Given the description of an element on the screen output the (x, y) to click on. 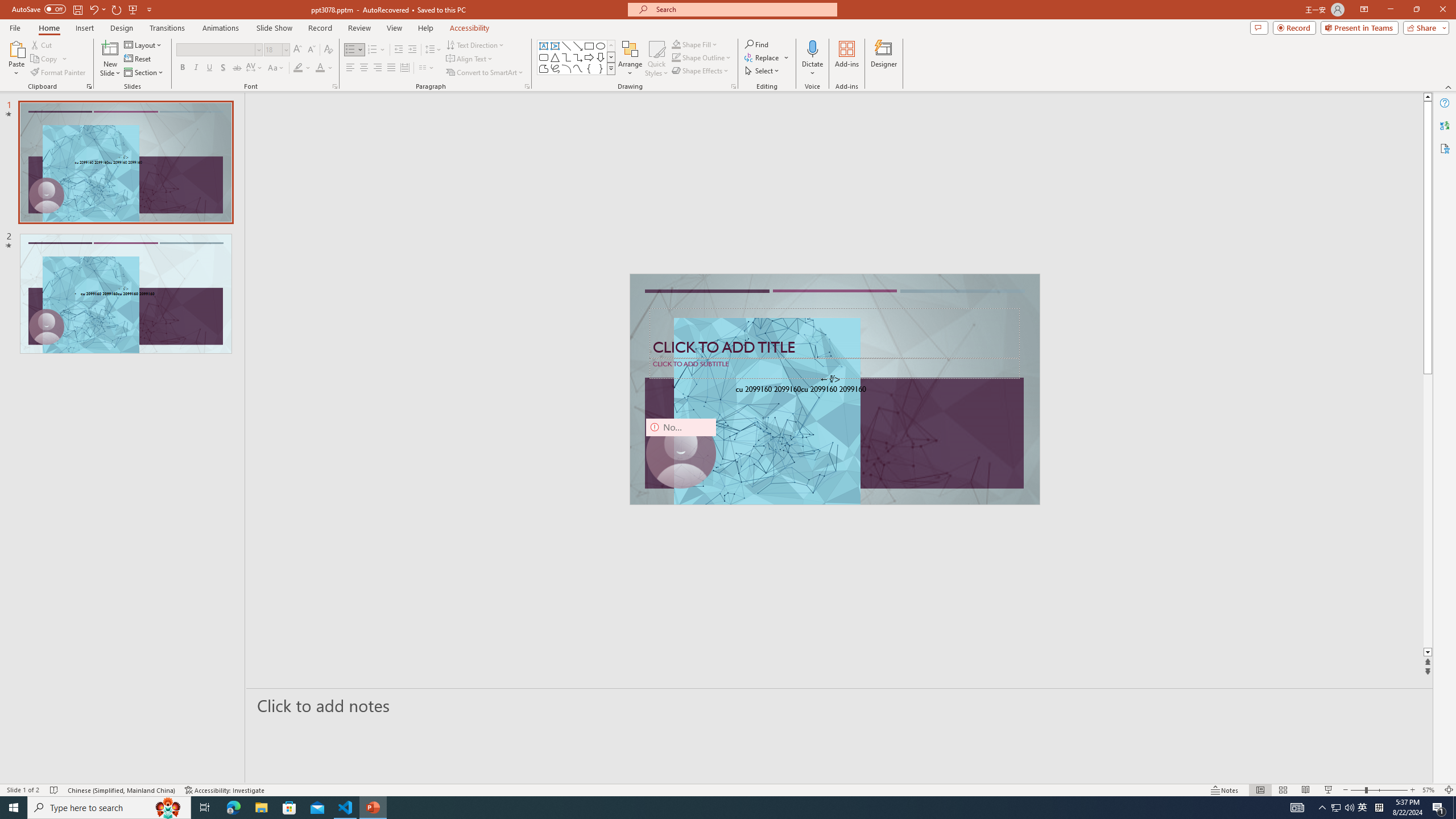
Section (144, 72)
Translator (1444, 125)
Shape Effects (700, 69)
TextBox 7 (830, 379)
Isosceles Triangle (554, 57)
Line down (1427, 652)
Decrease Font Size (310, 49)
Arrow: Down (600, 57)
Numbering (372, 49)
Connector: Elbow (566, 57)
